Given the description of an element on the screen output the (x, y) to click on. 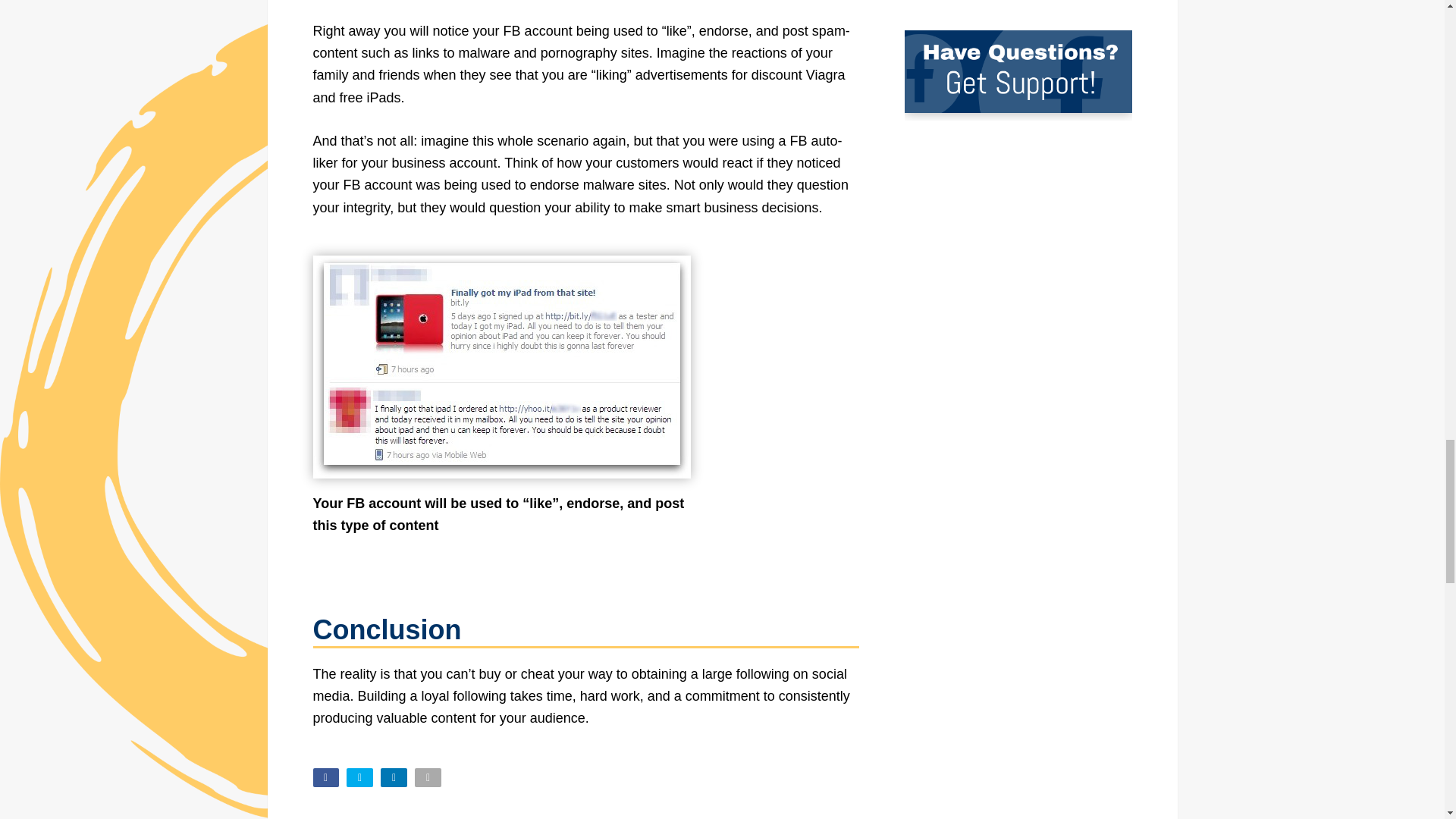
Share on LinkedIn (393, 777)
Share on Facebook (326, 777)
Share on Twitter (359, 777)
Share via Email (427, 777)
